Given the description of an element on the screen output the (x, y) to click on. 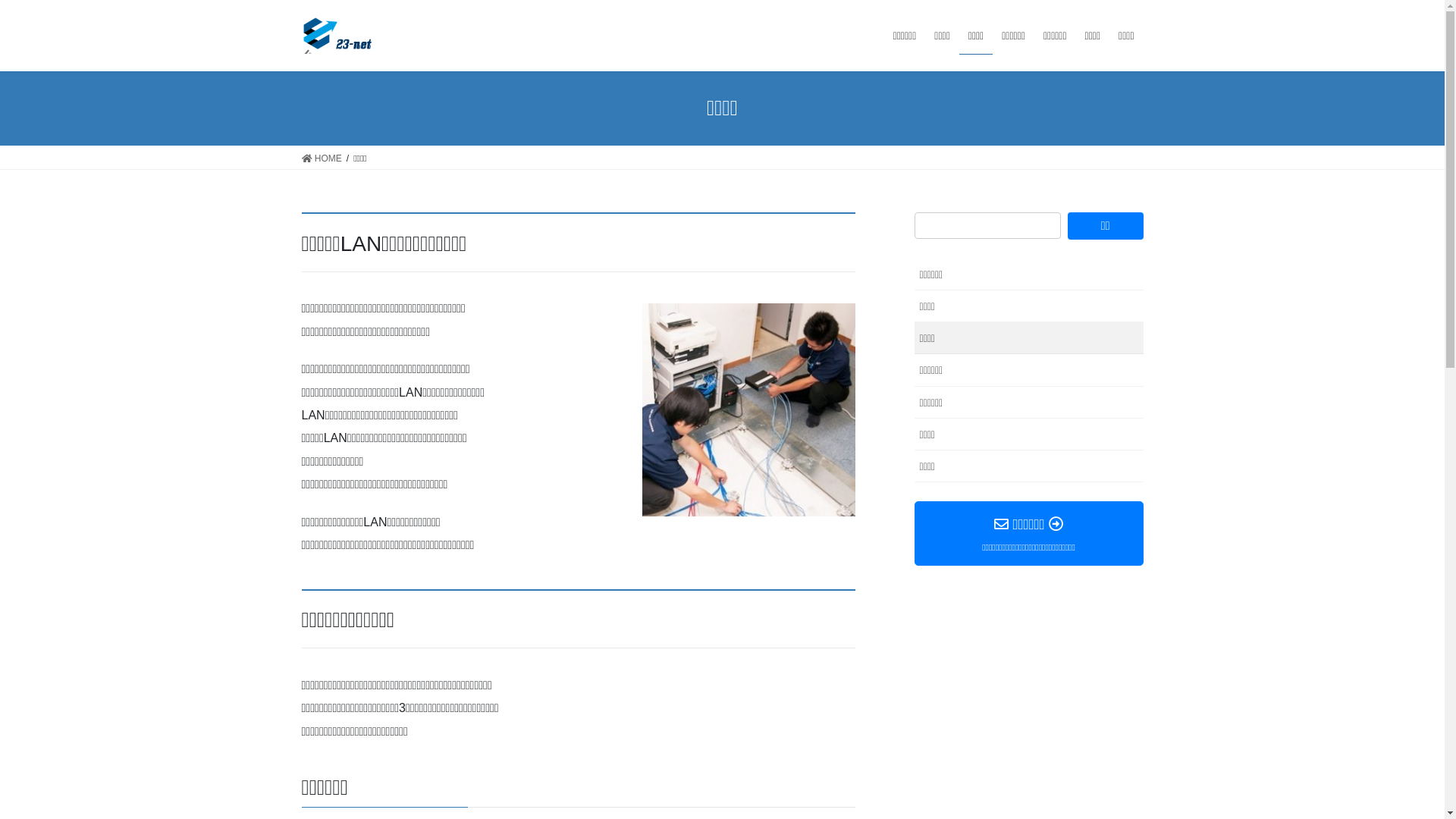
HOME Element type: text (321, 157)
